Given the description of an element on the screen output the (x, y) to click on. 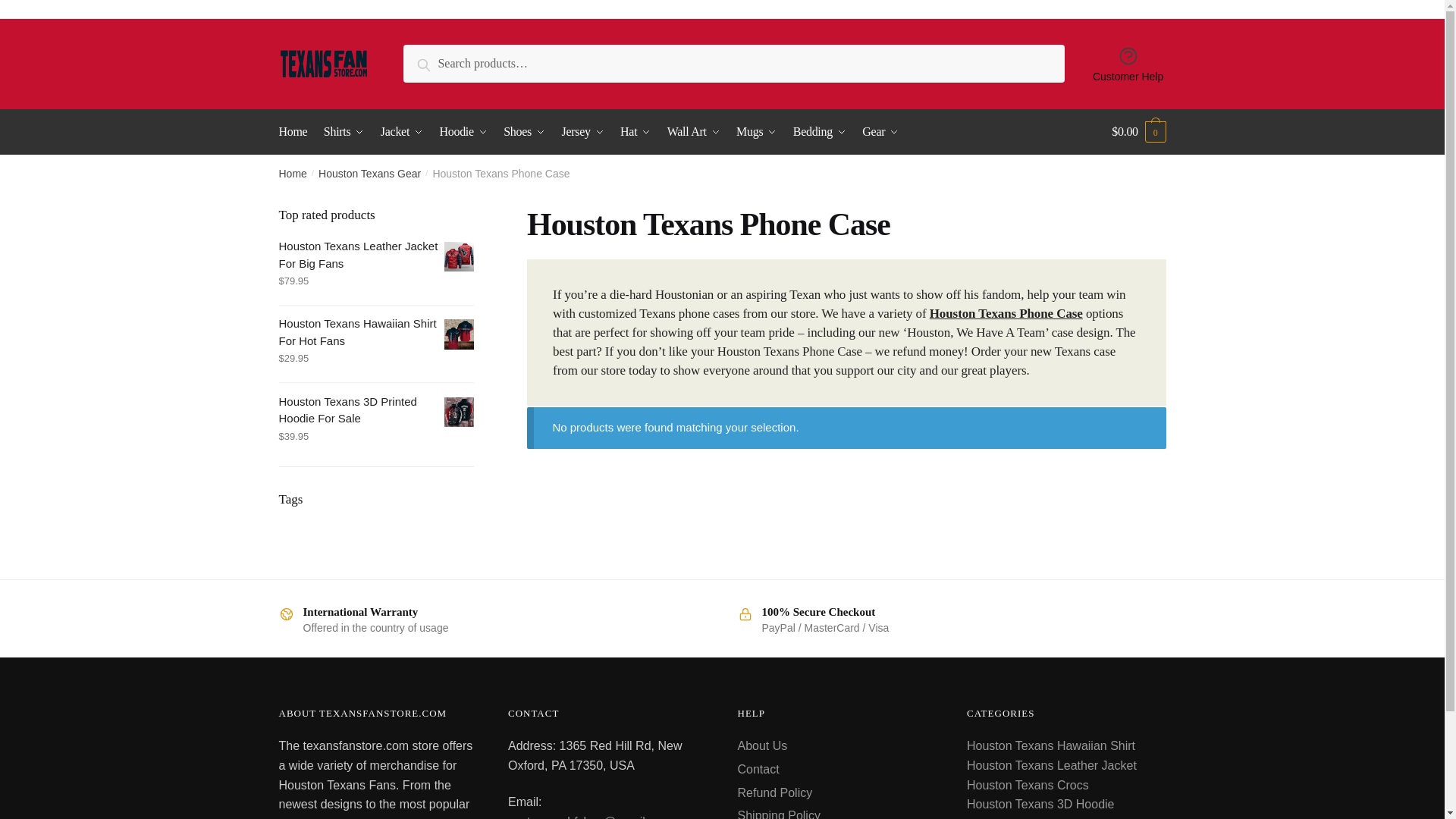
Shirts (344, 131)
Jacket (401, 131)
Jersey (582, 131)
Search (438, 62)
Hoodie (463, 131)
Customer Help (1128, 63)
View your shopping cart (1139, 131)
Shoes (524, 131)
